Given the description of an element on the screen output the (x, y) to click on. 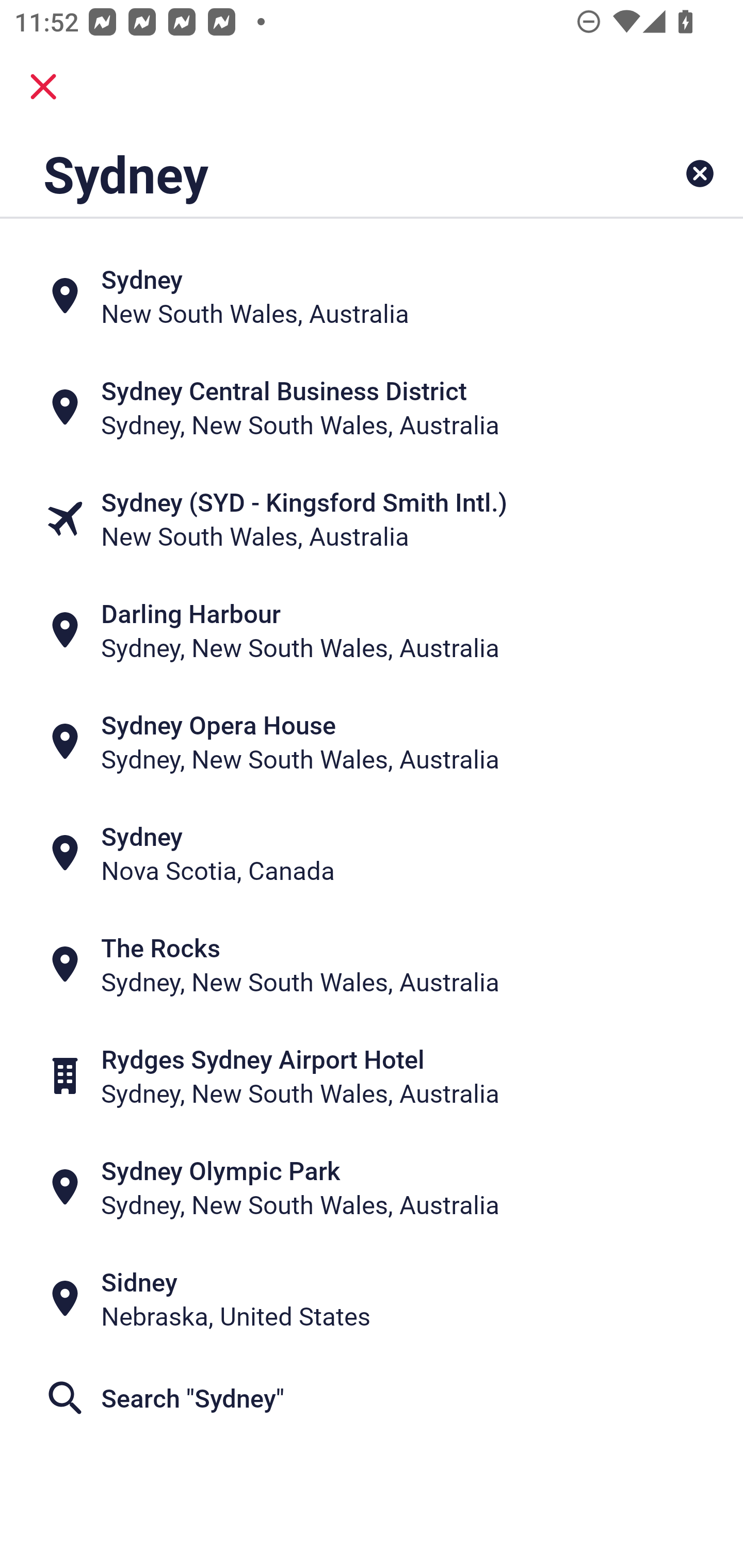
close. (43, 86)
Clear (699, 173)
Sydney (306, 173)
Sydney New South Wales, Australia (371, 295)
Darling Harbour Sydney, New South Wales, Australia (371, 629)
Sydney Nova Scotia, Canada (371, 853)
The Rocks Sydney, New South Wales, Australia (371, 964)
Sidney Nebraska, United States (371, 1298)
Search "Sydney" (371, 1397)
